Given the description of an element on the screen output the (x, y) to click on. 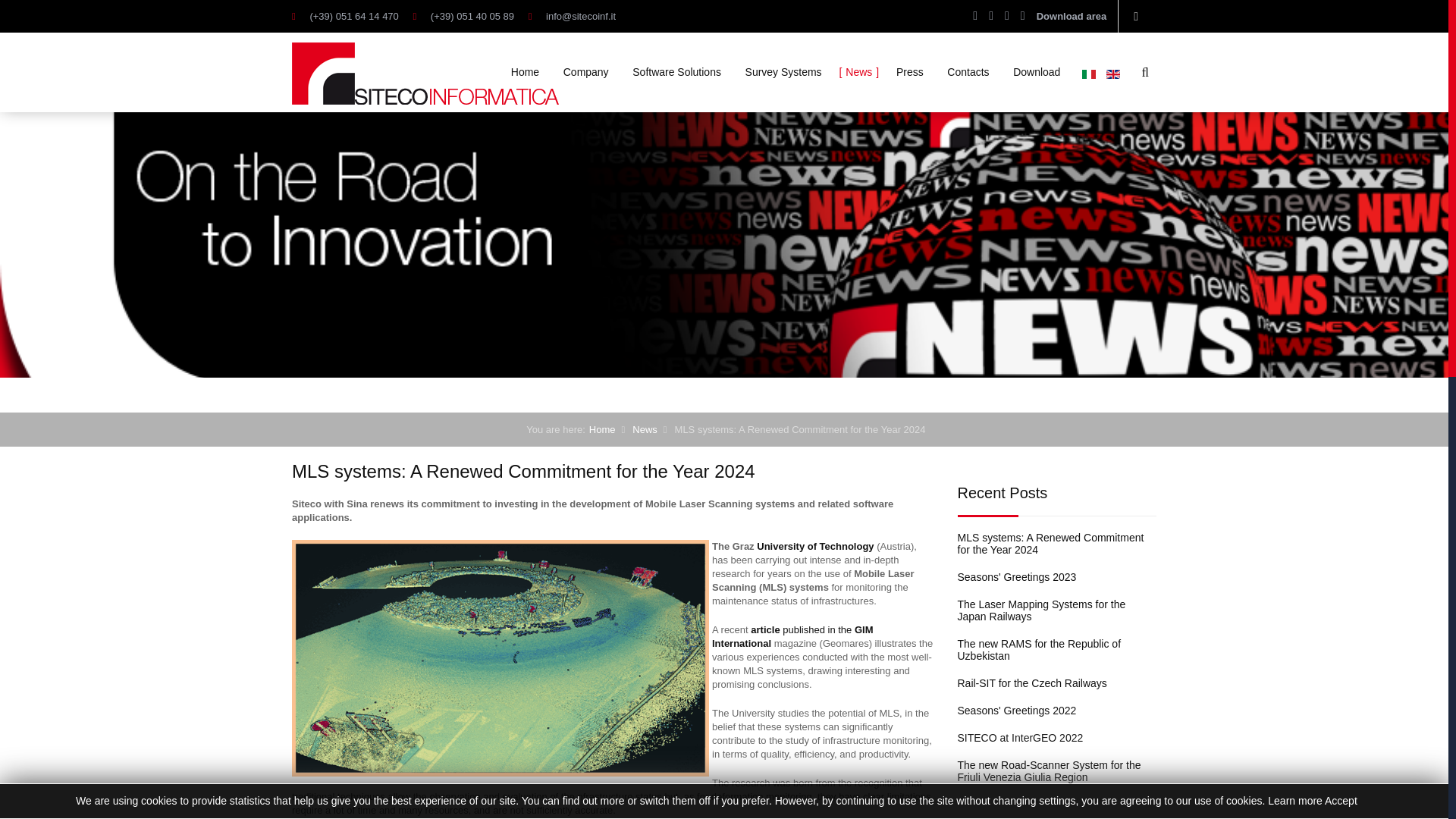
Software Solutions (675, 72)
Professionisti Joomla! Bologna (768, 779)
article published in the (801, 629)
Survey Systems (783, 72)
University of Technology  (816, 546)
News (644, 429)
Home (602, 429)
Italiano (1088, 73)
Download area (1071, 16)
